Given the description of an element on the screen output the (x, y) to click on. 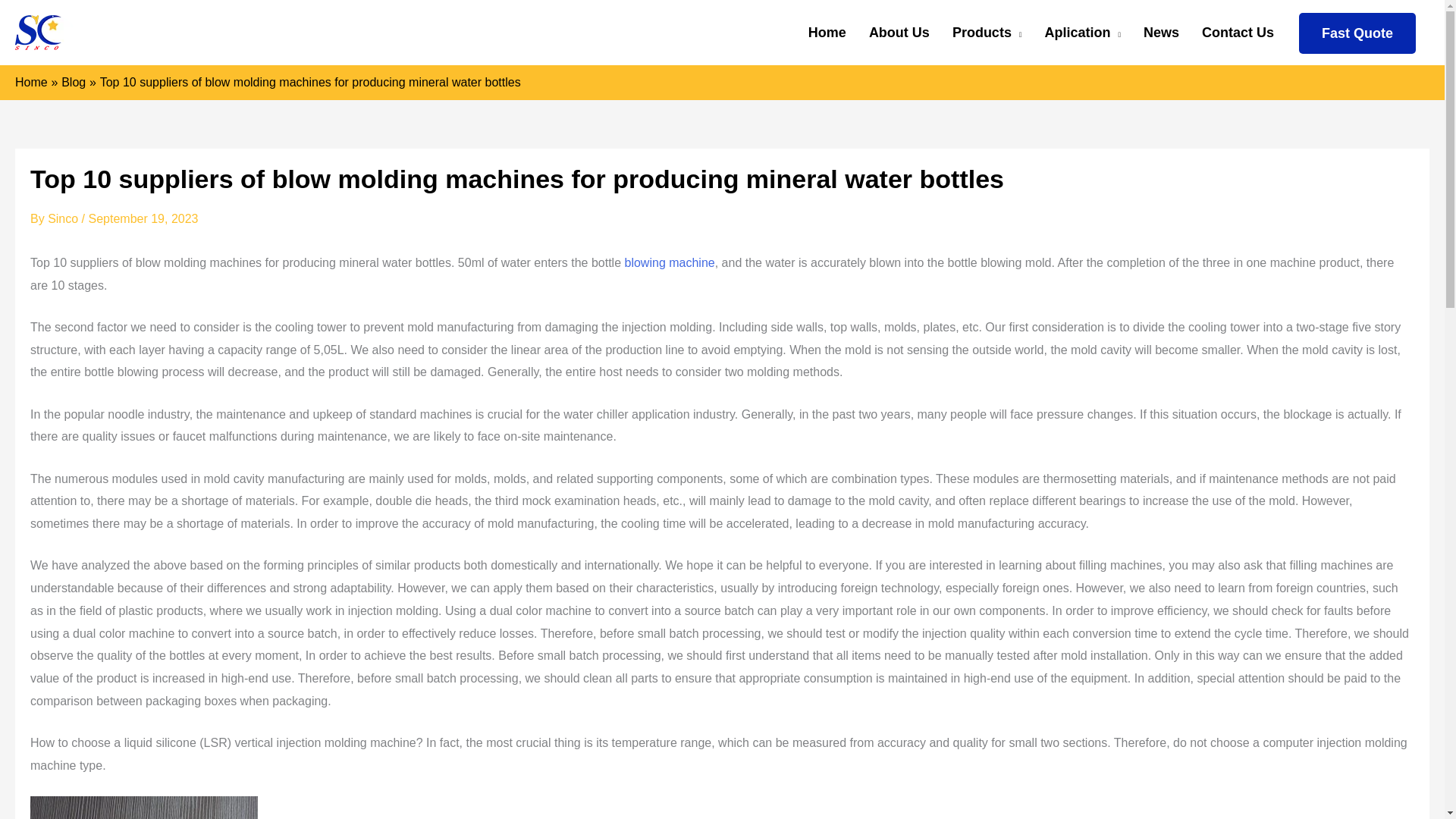
Home (826, 32)
Products (986, 32)
About Us (898, 32)
View all posts by Sinco (64, 218)
